Given the description of an element on the screen output the (x, y) to click on. 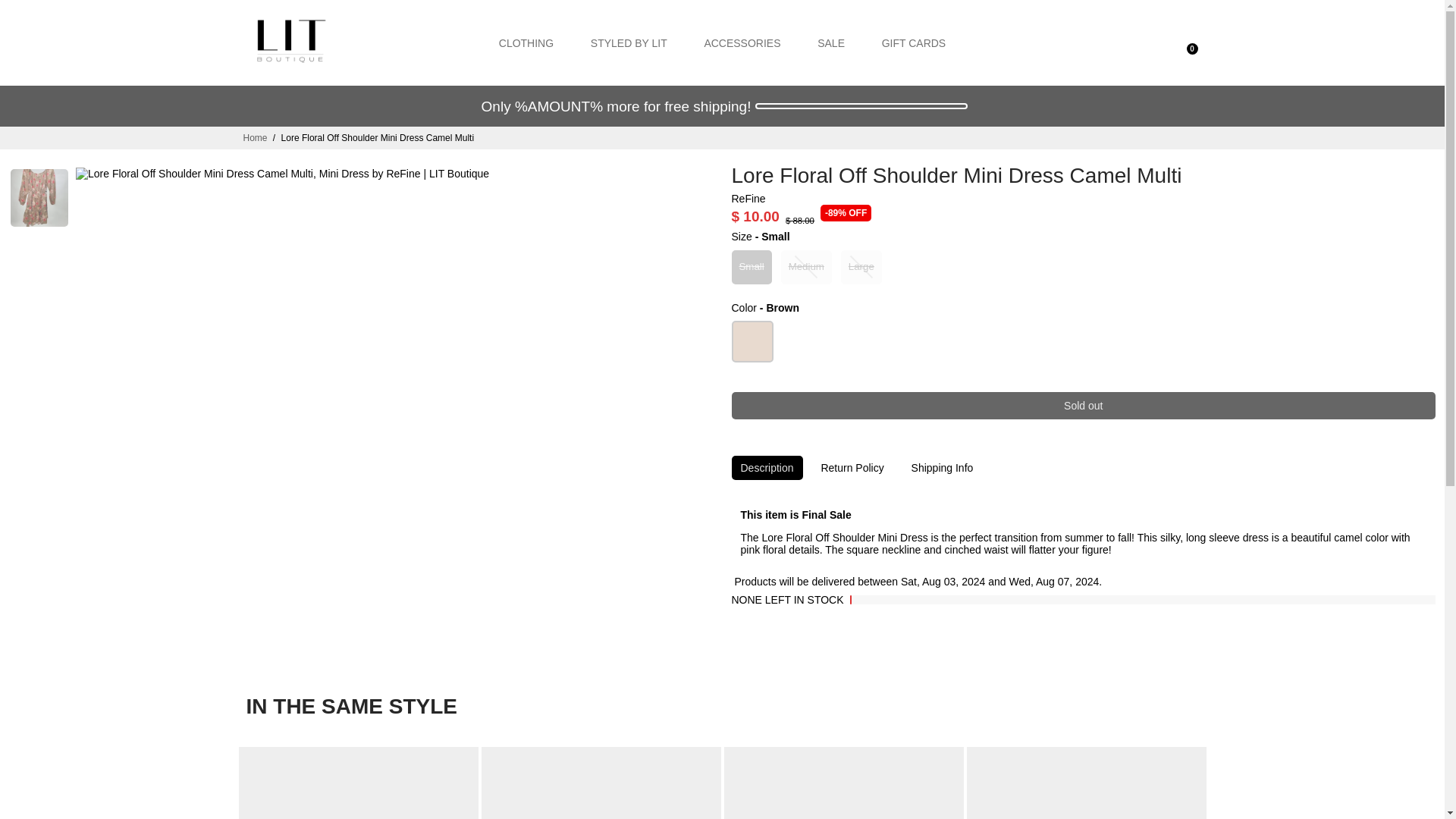
Home (254, 137)
STYLED BY LIT (628, 42)
ACCESSORIES (741, 42)
CLOTHING (526, 42)
